Given the description of an element on the screen output the (x, y) to click on. 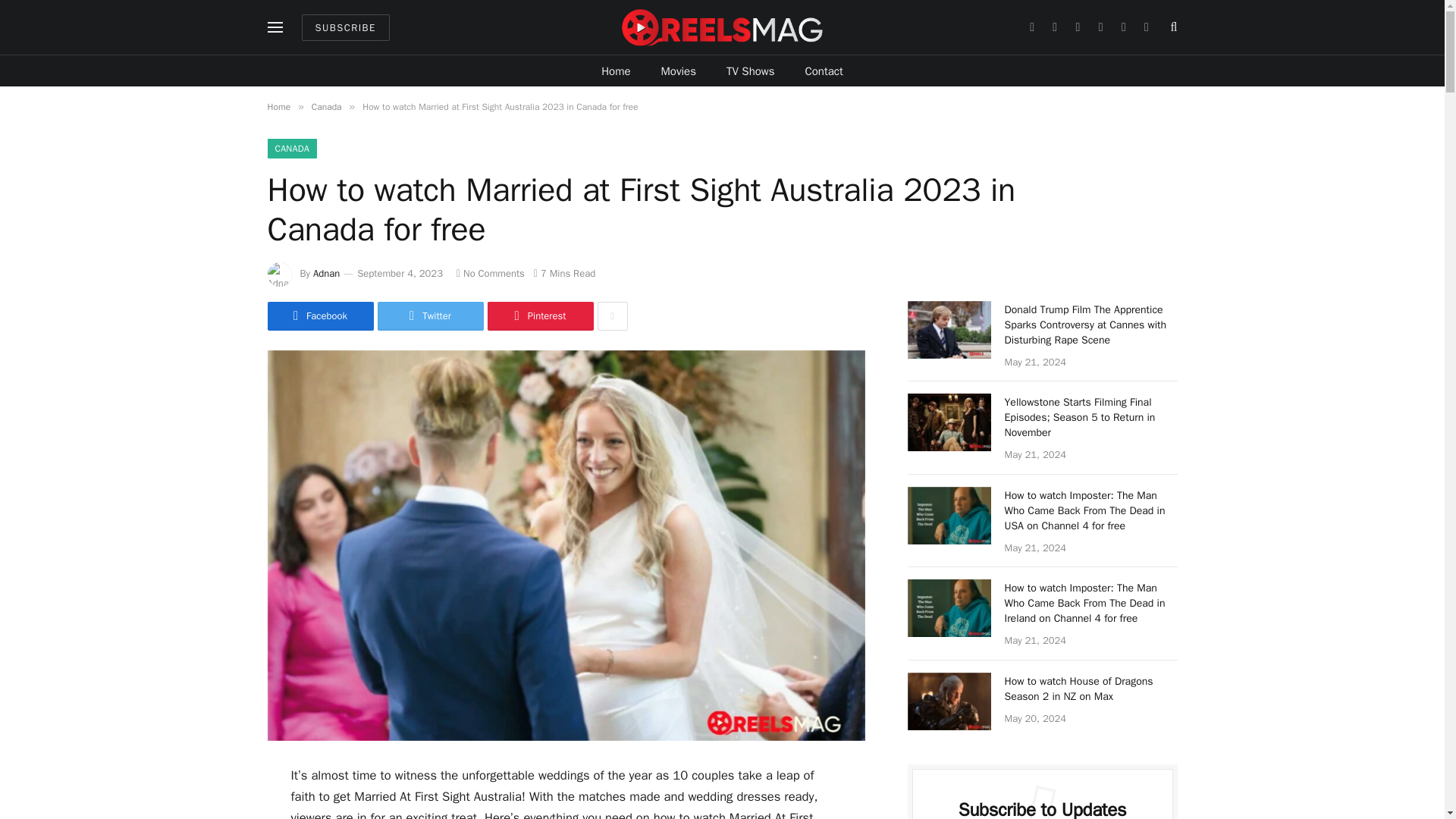
Canada (326, 106)
Twitter (430, 316)
TV Shows (750, 70)
Posts by Adnan (326, 273)
Home (277, 106)
Facebook (319, 316)
Home (615, 70)
Pinterest (539, 316)
SUBSCRIBE (345, 26)
Movies (678, 70)
